Given the description of an element on the screen output the (x, y) to click on. 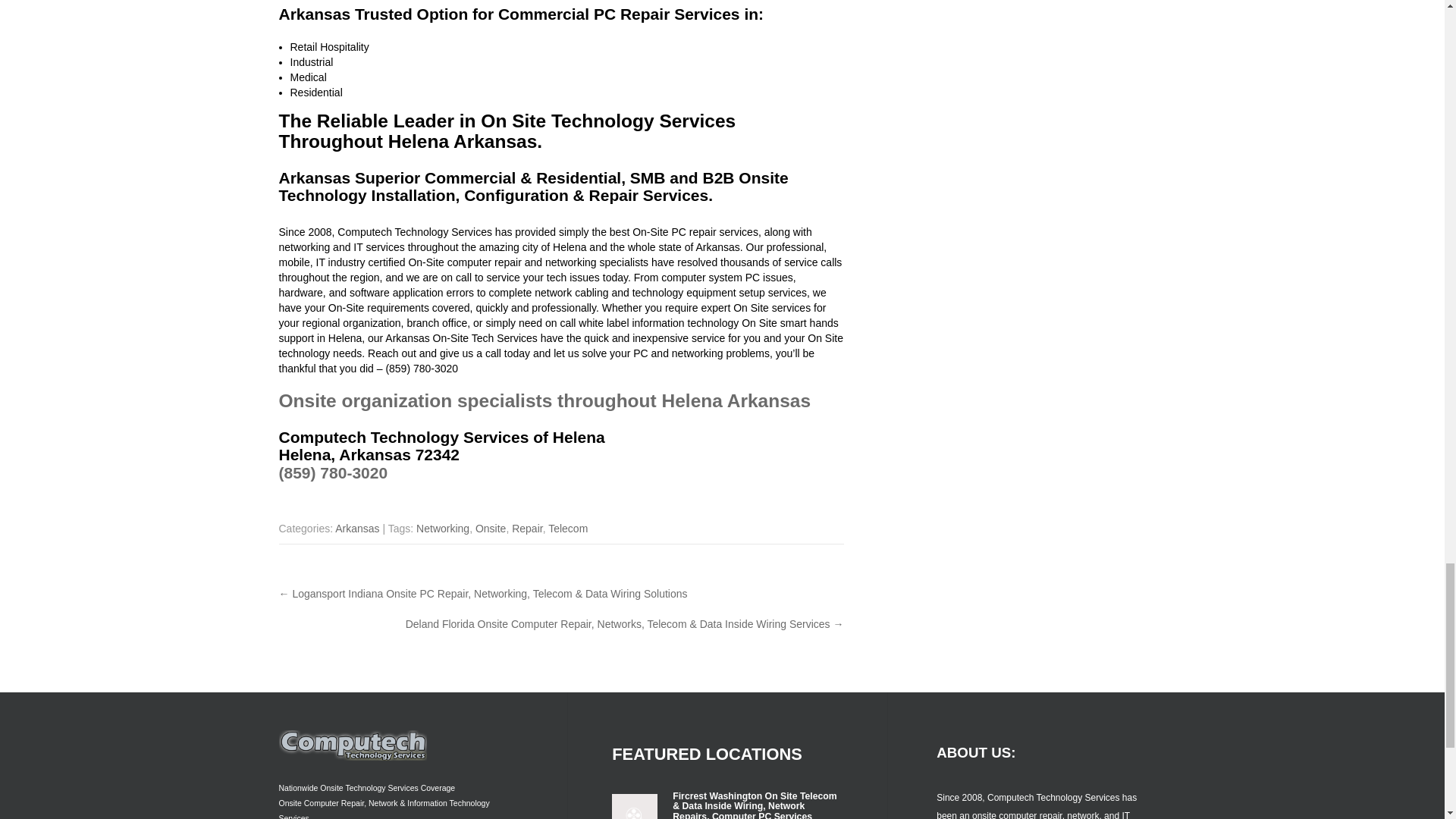
View all posts in Arkansas (356, 528)
